Given the description of an element on the screen output the (x, y) to click on. 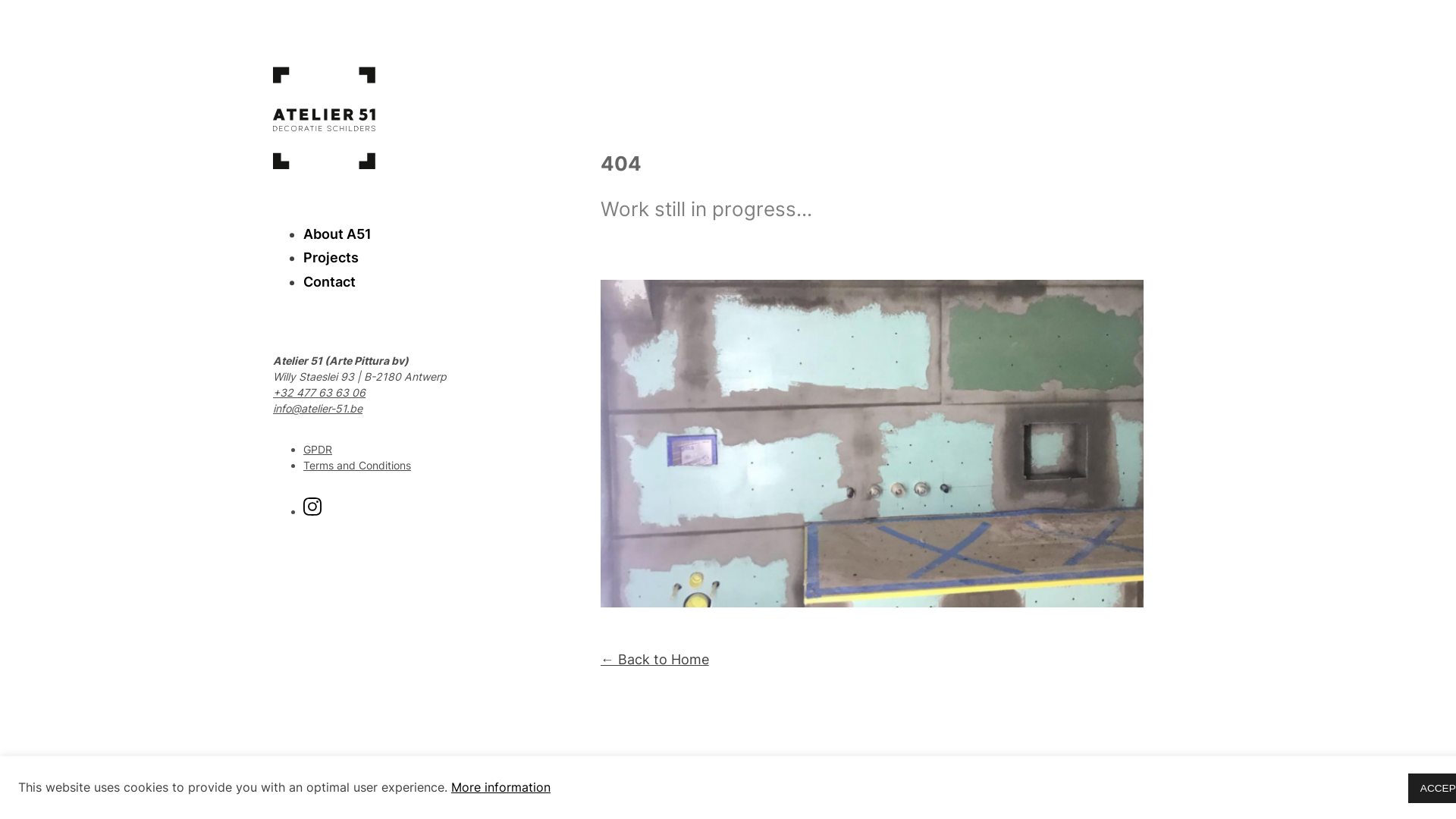
About A51 Element type: text (337, 235)
GPDR Element type: text (317, 449)
+32 477 63 63 06 Element type: text (319, 392)
Contact Element type: text (329, 283)
Projects Element type: text (330, 258)
More information Element type: text (500, 787)
info@atelier-51.be Element type: text (317, 408)
Terms and Conditions Element type: text (357, 465)
